Given the description of an element on the screen output the (x, y) to click on. 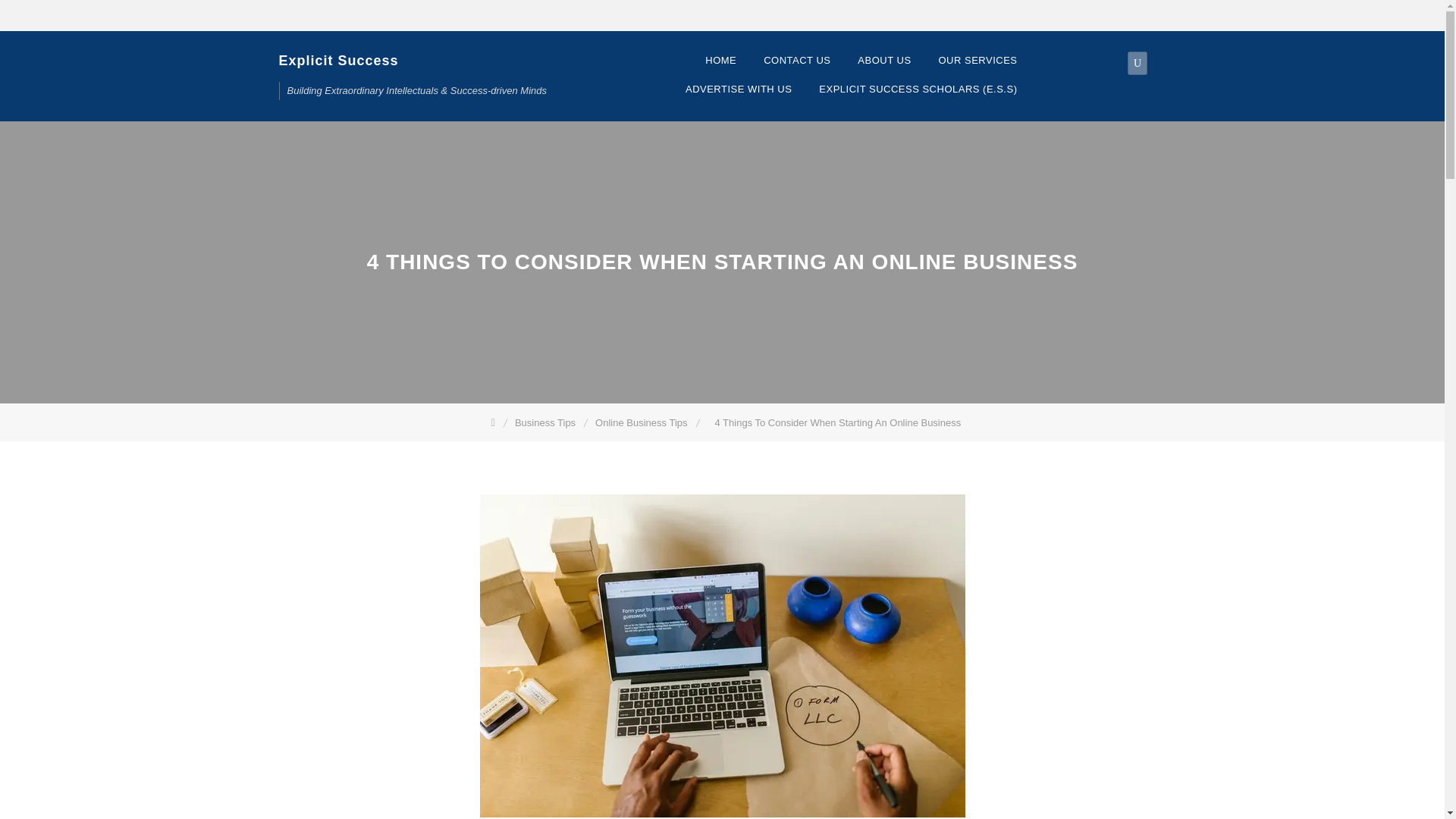
ADVERTISE WITH US (737, 89)
HOME (720, 60)
ABOUT US (884, 60)
Business Tips (546, 422)
Online Business Tips (642, 422)
OUR SERVICES (977, 60)
Home (494, 422)
Explicit Success (338, 60)
CONTACT US (797, 60)
